Given the description of an element on the screen output the (x, y) to click on. 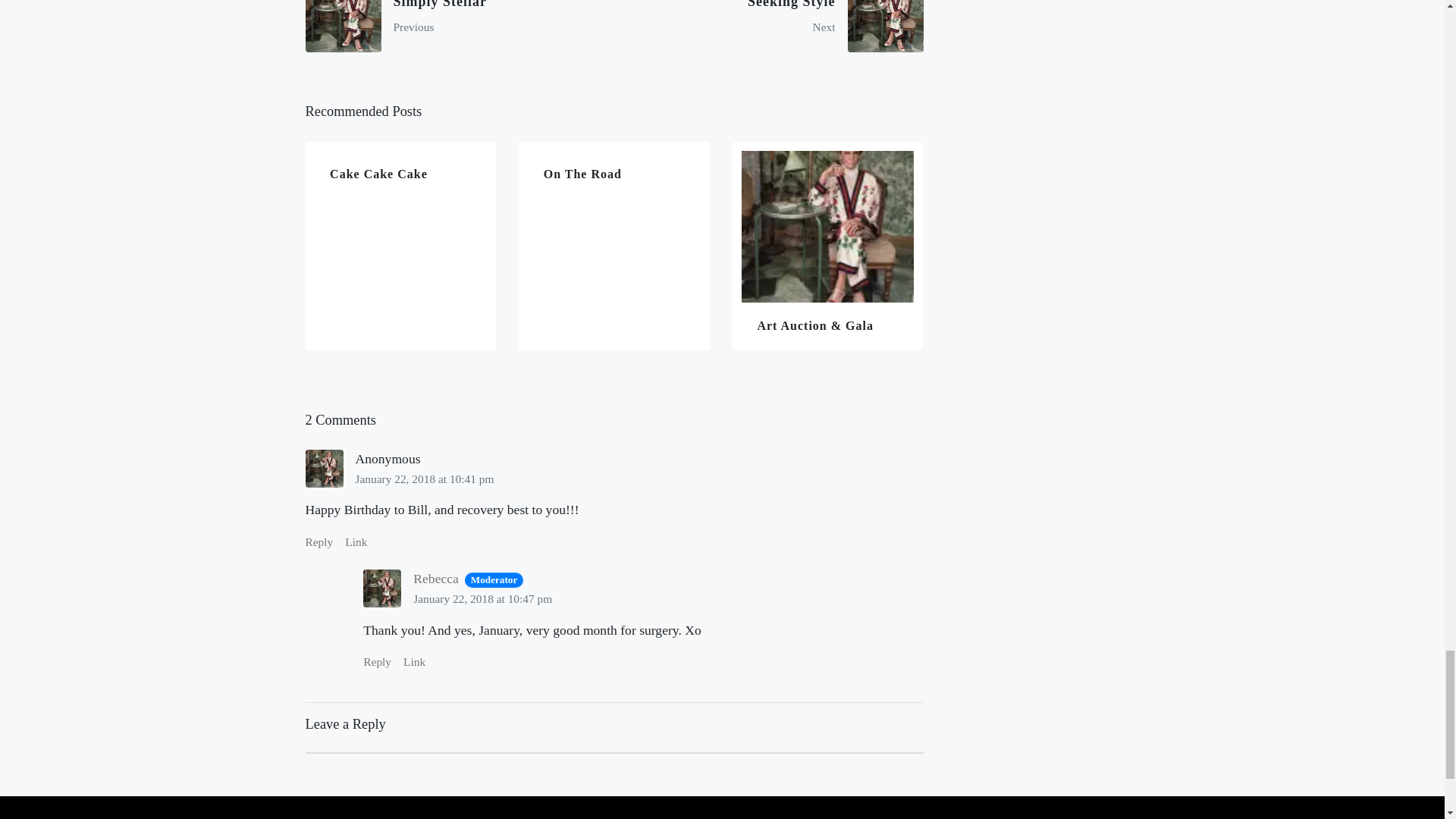
Rebecca (435, 578)
Link (355, 541)
Reply (774, 26)
On The Road (454, 26)
Cake Cake Cake (376, 661)
Comment Form (614, 245)
Reply (400, 245)
Link (318, 541)
simply stellar (774, 26)
